Given the description of an element on the screen output the (x, y) to click on. 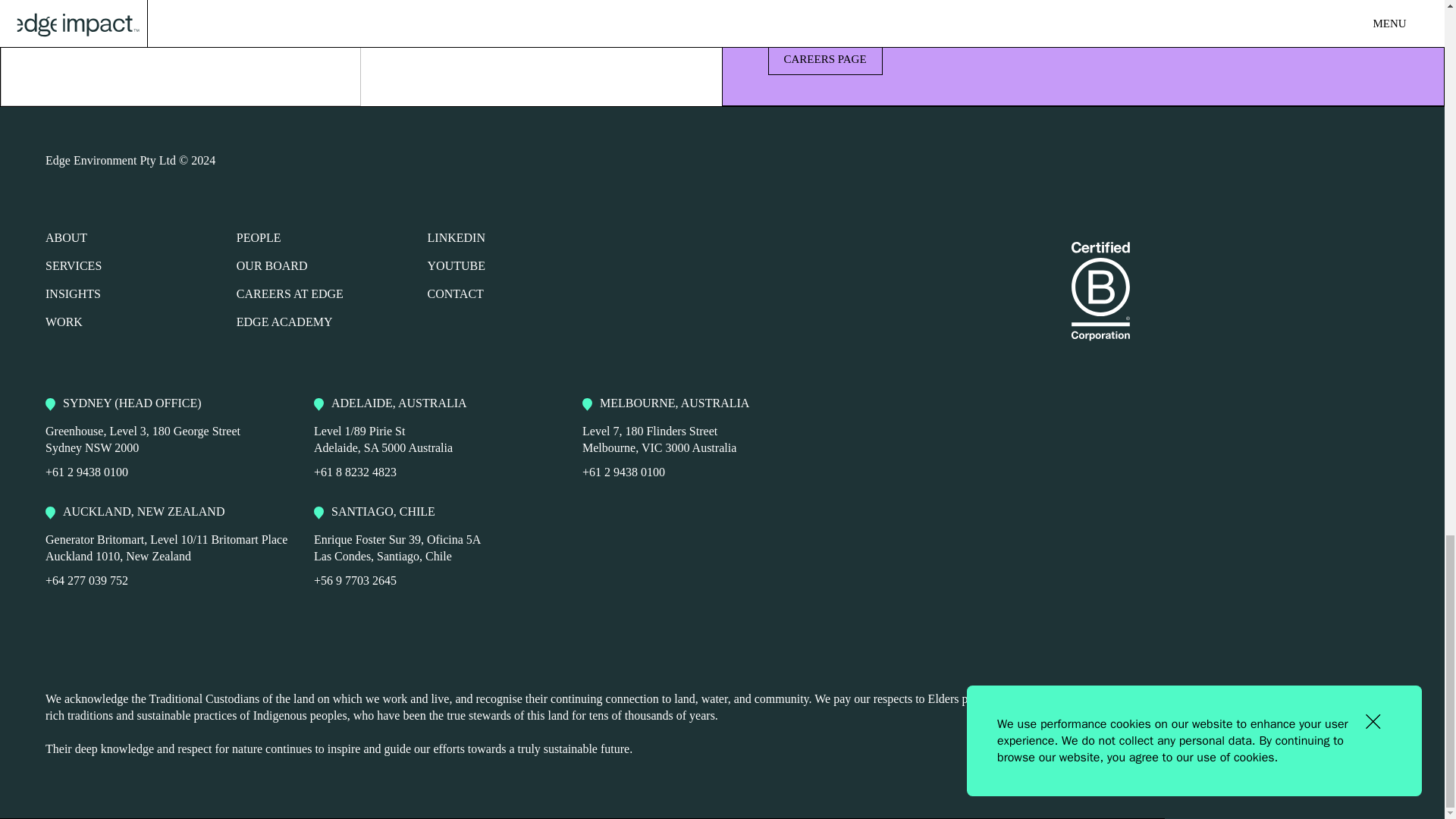
SERVICES (73, 265)
INSIGHTS (72, 293)
OUR BOARD (271, 265)
CONTACT (455, 293)
PEOPLE (258, 237)
CAREERS PAGE (824, 60)
ABOUT (66, 237)
YOUTUBE (456, 265)
CAREERS PAGE (1082, 60)
WORK (63, 321)
